Given the description of an element on the screen output the (x, y) to click on. 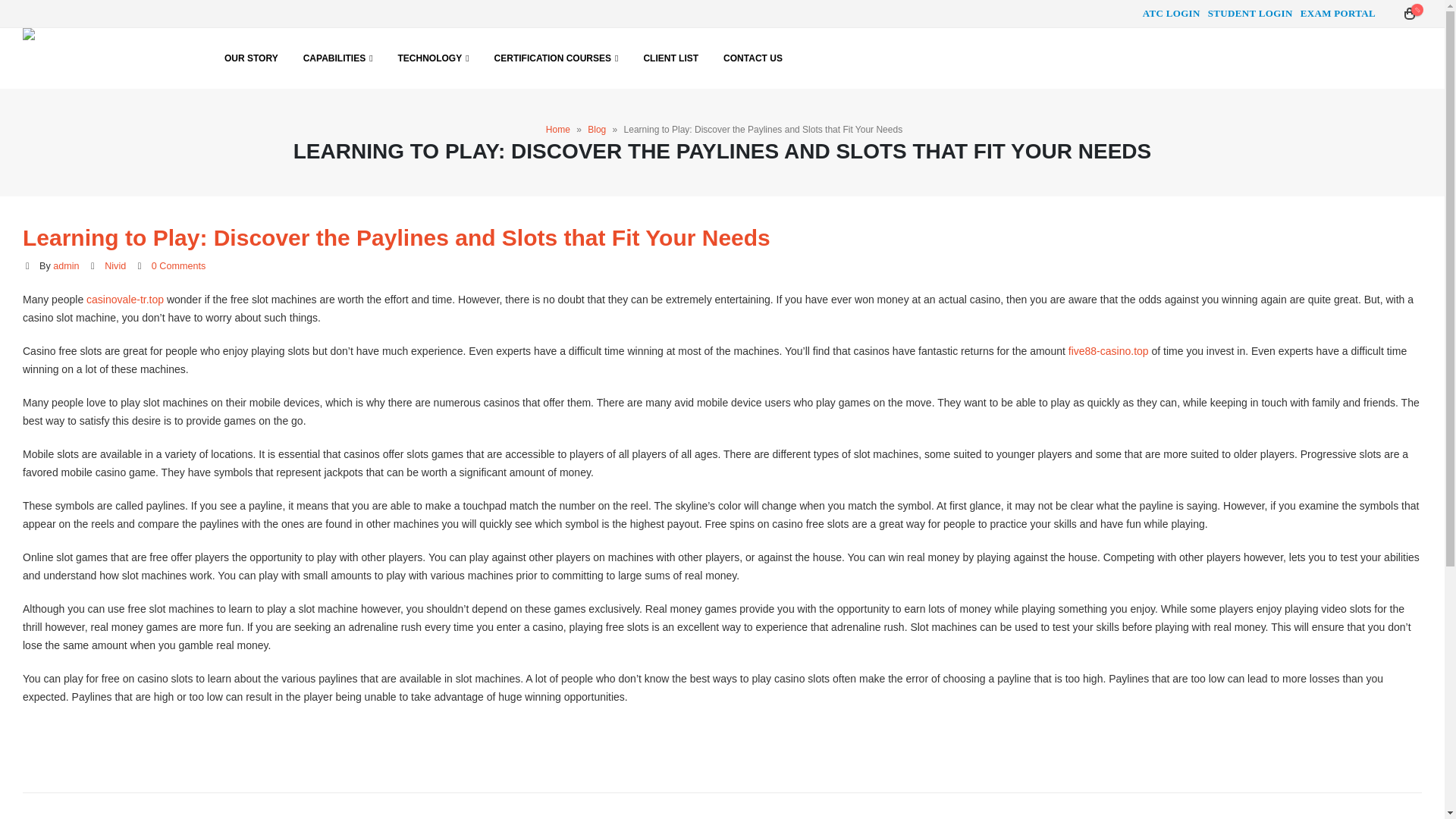
ATC LOGIN (1171, 13)
EXAM PORTAL (1337, 13)
CAPABILITIES (338, 58)
TECHNOLOGY (433, 58)
STUDENT LOGIN (1250, 13)
Nivid Informatics Pvt Ltd -  (99, 57)
OUR STORY (250, 58)
0 Comments (178, 266)
Posts by admin (65, 266)
